Given the description of an element on the screen output the (x, y) to click on. 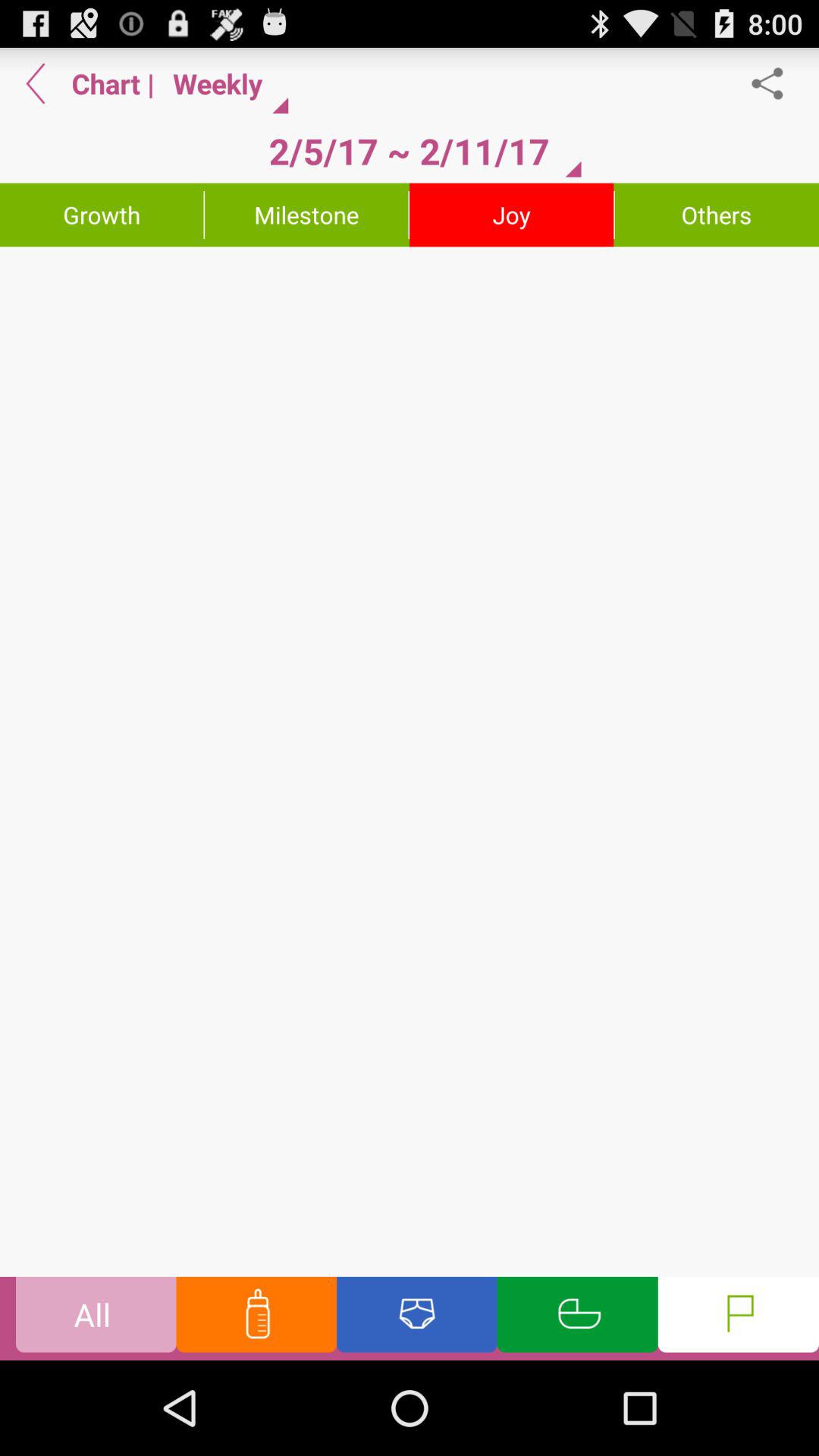
clothes page (416, 1318)
